Given the description of an element on the screen output the (x, y) to click on. 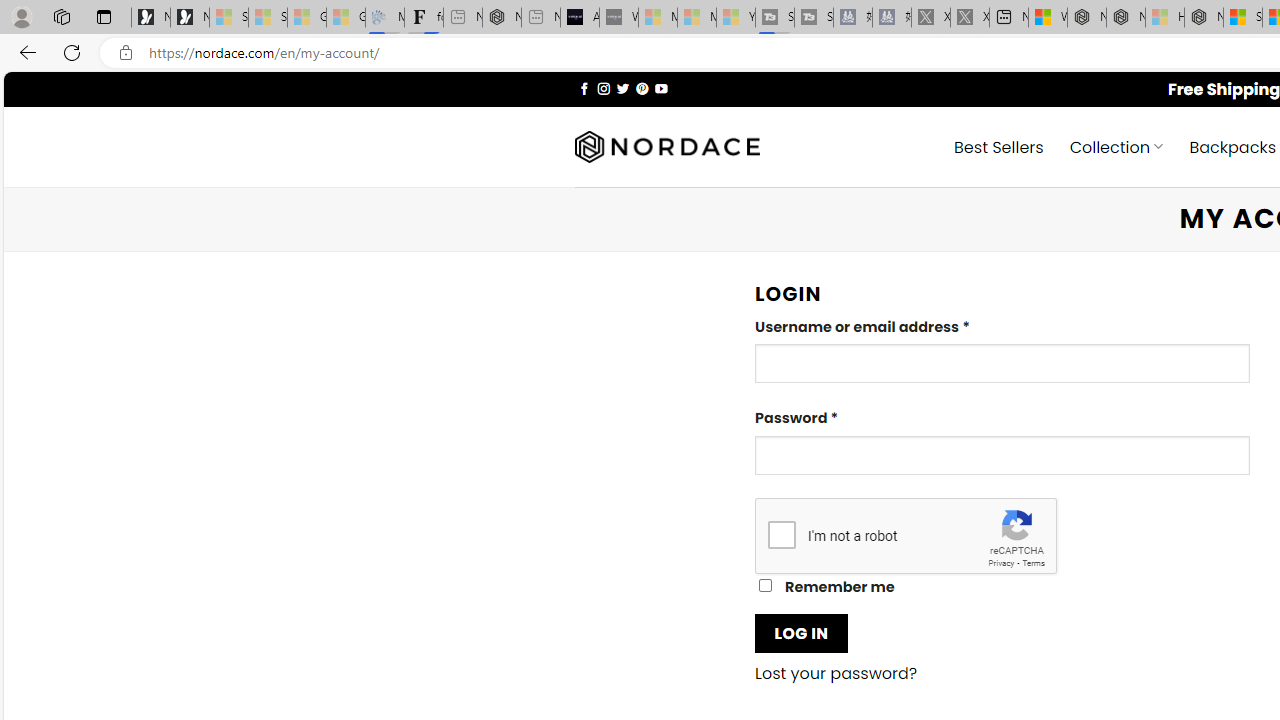
Microsoft Start - Sleeping (696, 17)
 Best Sellers (998, 146)
Microsoft Start Sports - Sleeping (657, 17)
Follow on Instagram (603, 88)
Nordace - Nordace Siena Is Not An Ordinary Backpack (1203, 17)
AI Voice Changer for PC and Mac - Voice.ai (579, 17)
